Given the description of an element on the screen output the (x, y) to click on. 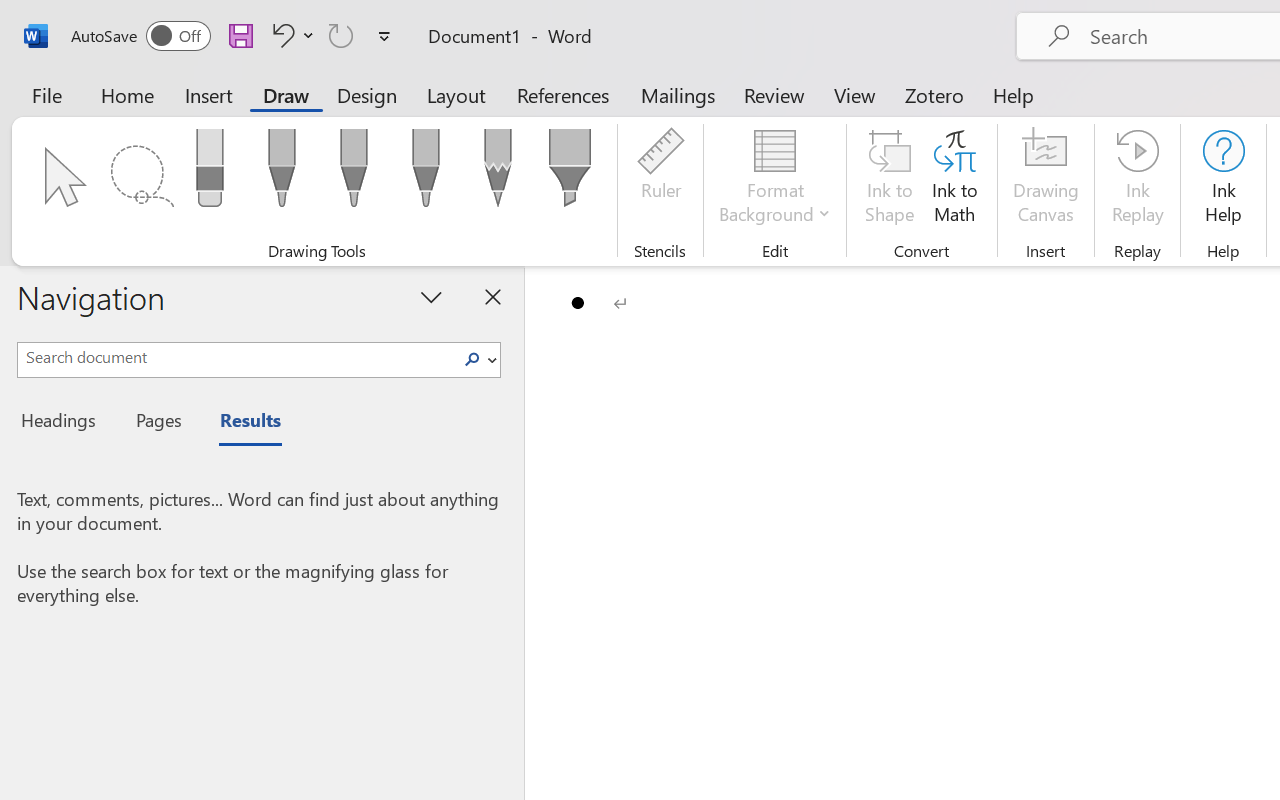
Headings (64, 423)
Ink to Shape (889, 179)
Ruler (660, 179)
Drawing Canvas (1045, 179)
Highlighter: Yellow, 6 mm (569, 173)
Can't Repeat (341, 35)
Undo Bullet Default (280, 35)
